Given the description of an element on the screen output the (x, y) to click on. 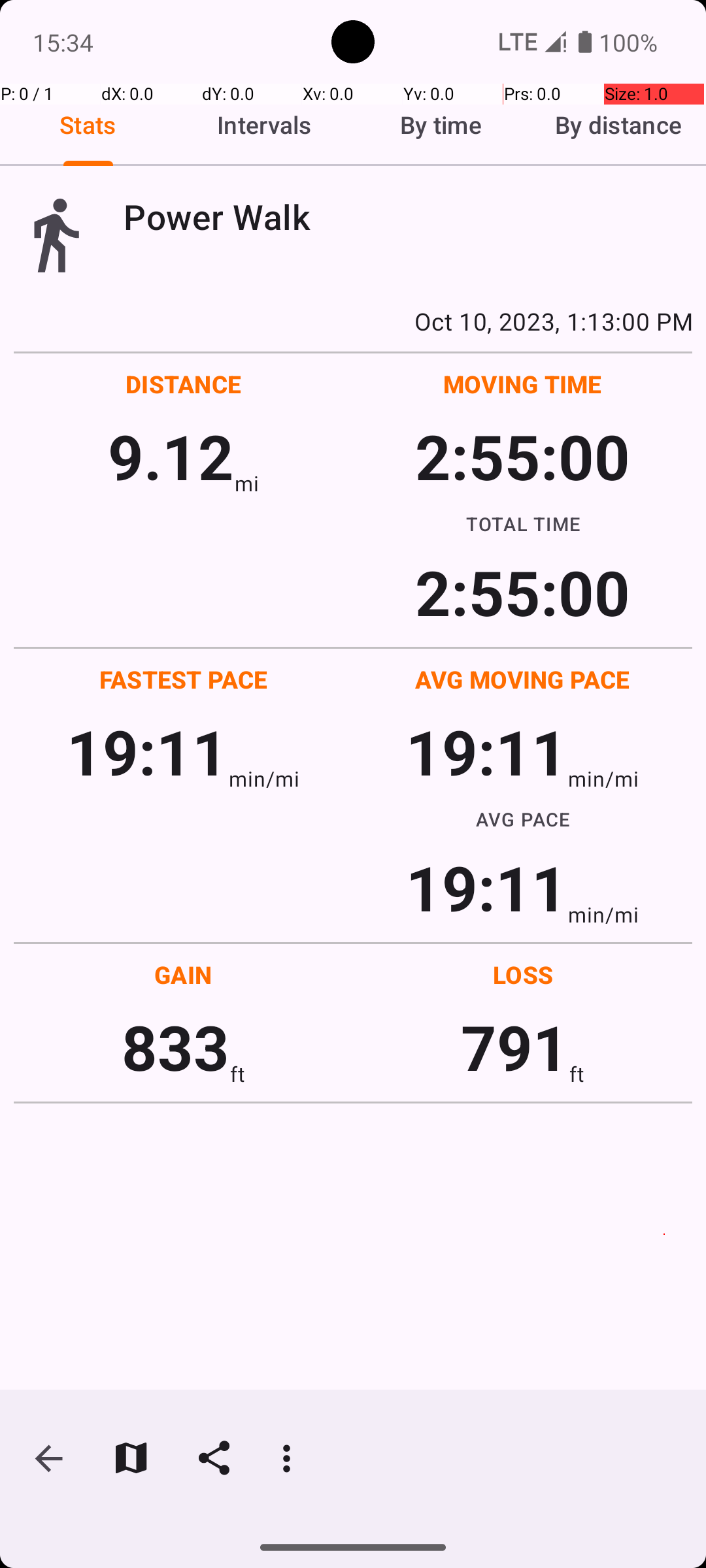
Power Walk Element type: android.widget.TextView (407, 216)
Oct 10, 2023, 1:13:00 PM Element type: android.widget.TextView (352, 320)
9.12 Element type: android.widget.TextView (170, 455)
2:55:00 Element type: android.widget.TextView (522, 455)
19:11 Element type: android.widget.TextView (147, 750)
833 Element type: android.widget.TextView (175, 1045)
791 Element type: android.widget.TextView (514, 1045)
